Given the description of an element on the screen output the (x, y) to click on. 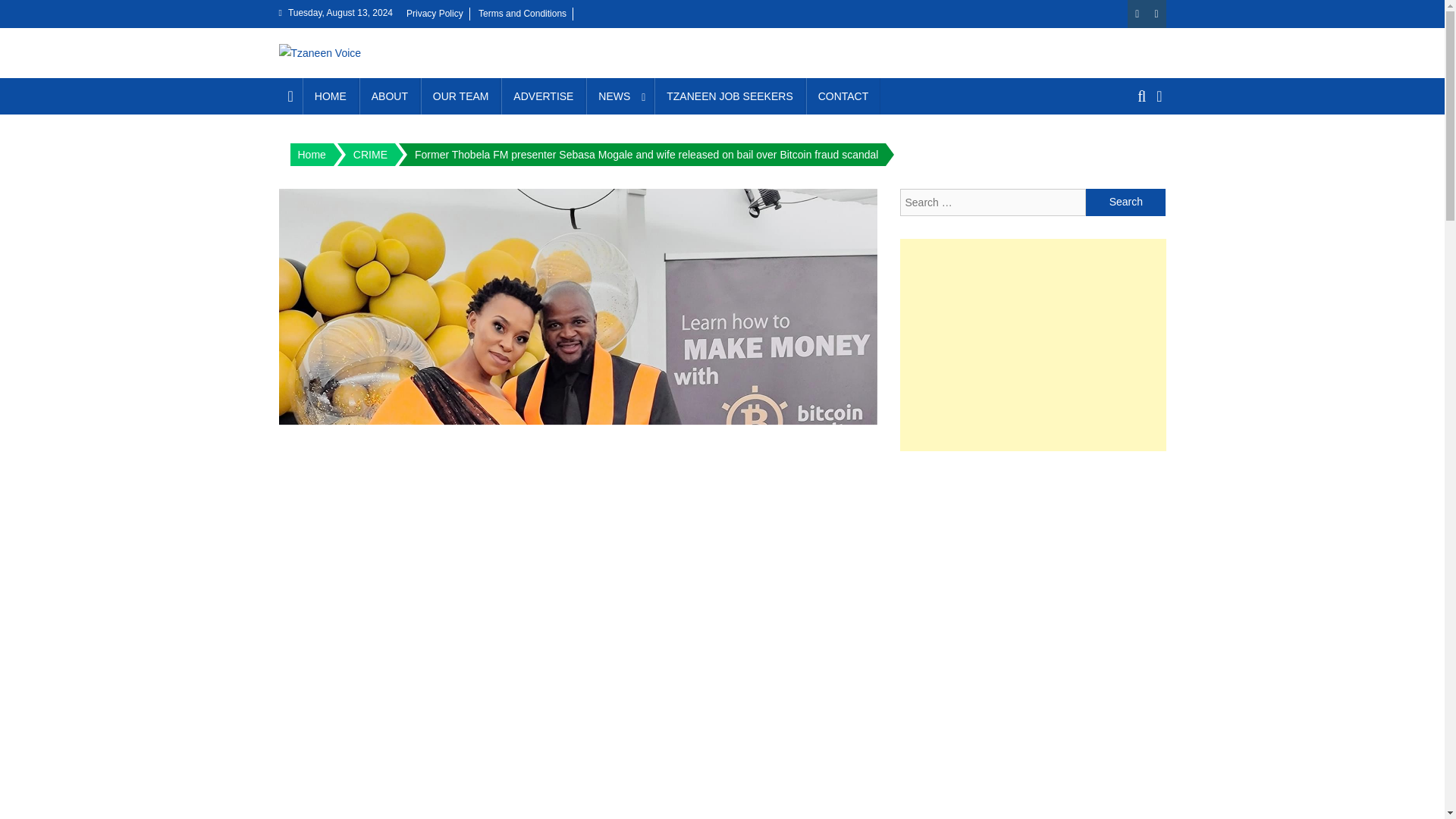
Search (1126, 202)
Search (1133, 151)
NEWS (619, 95)
OUR TEAM (460, 95)
Privacy Policy (434, 13)
HOME (330, 95)
Home (311, 154)
CONTACT (843, 95)
TZANEEN JOB SEEKERS (729, 95)
Terms and Conditions (522, 13)
